Given the description of an element on the screen output the (x, y) to click on. 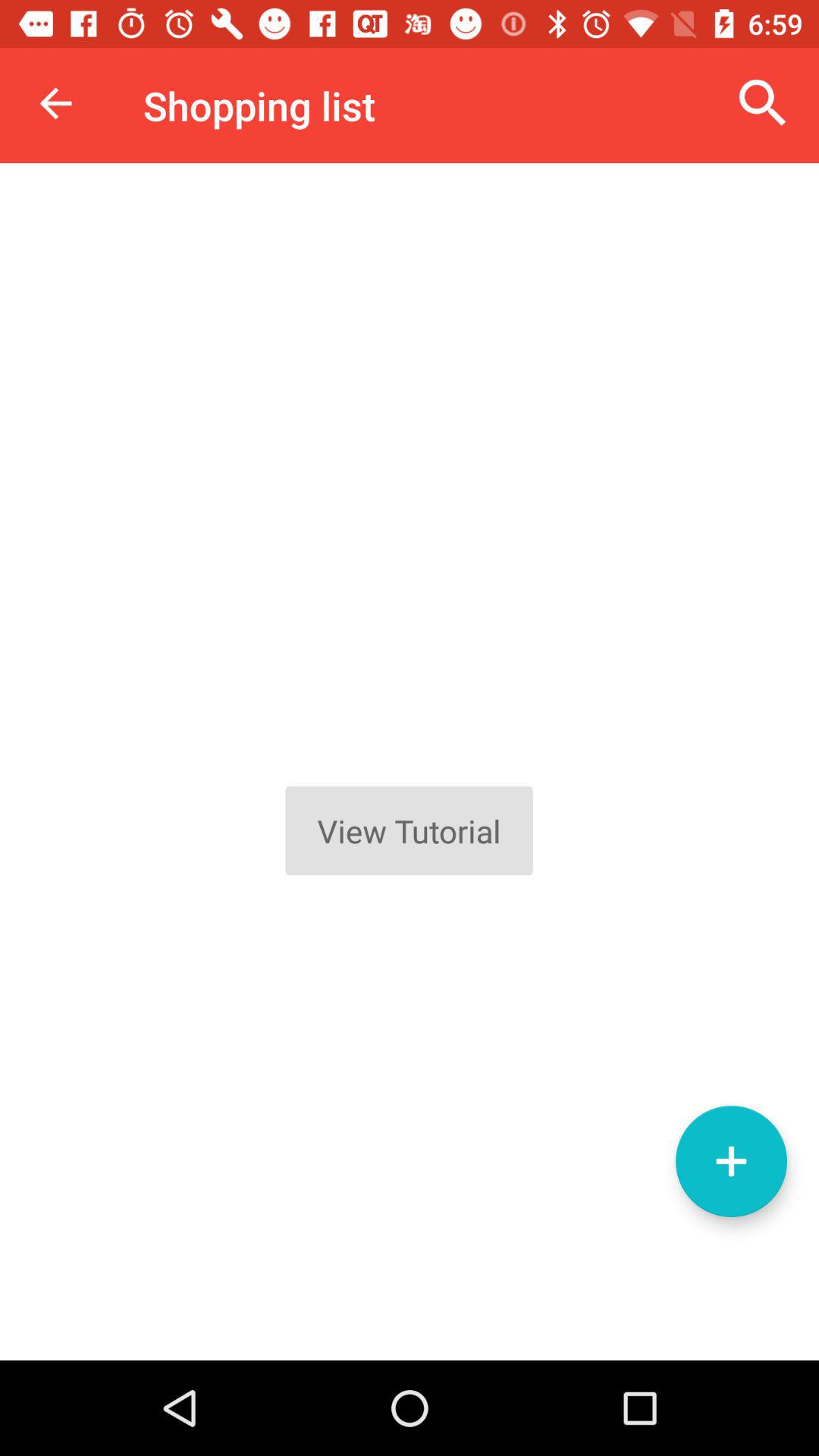
add an item (731, 1161)
